Given the description of an element on the screen output the (x, y) to click on. 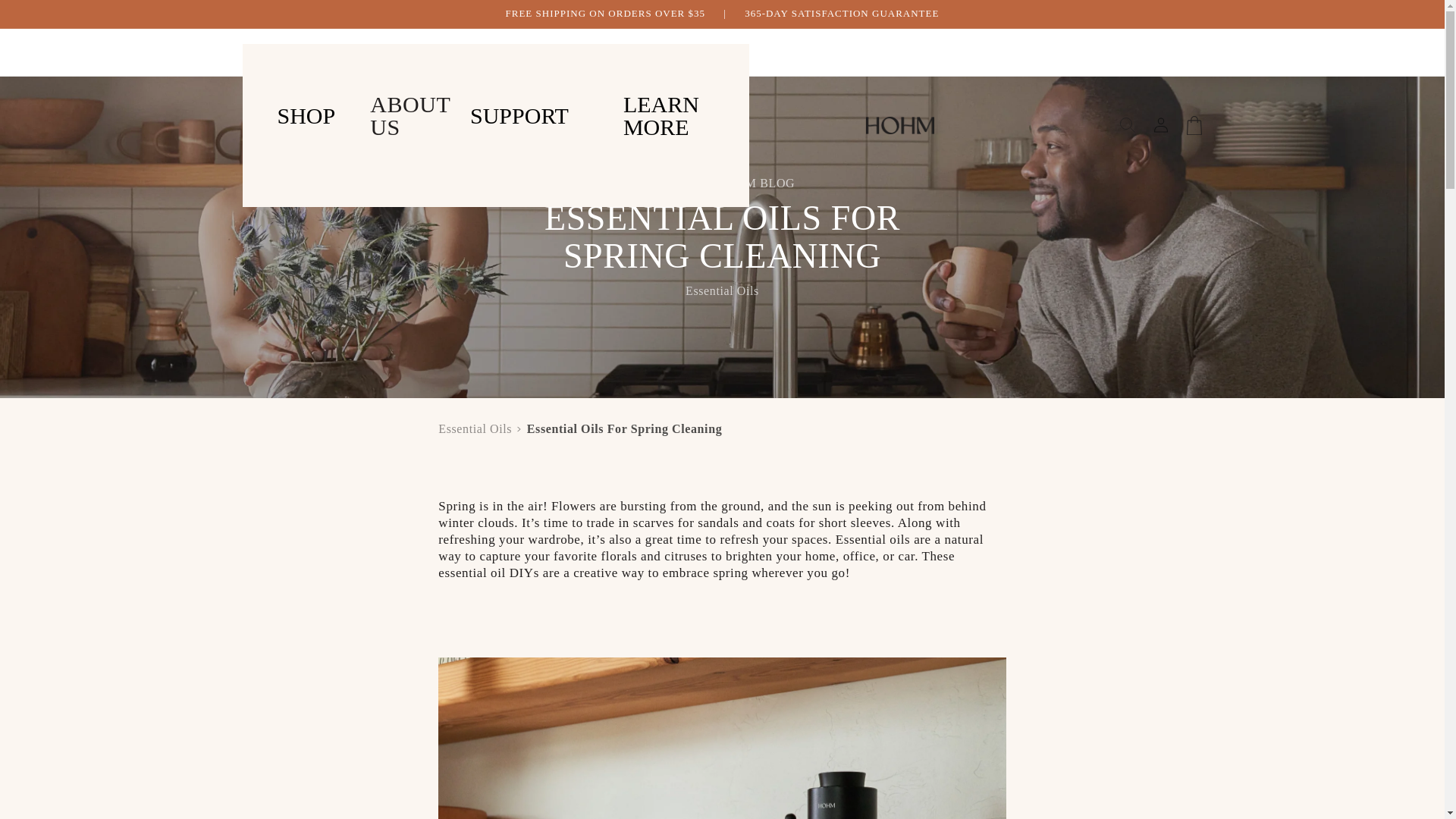
Skip to content (45, 17)
365-DAY SATISFACTION GUARANTEE (841, 12)
Opens a widget where you can find more information (57, 792)
